Given the description of an element on the screen output the (x, y) to click on. 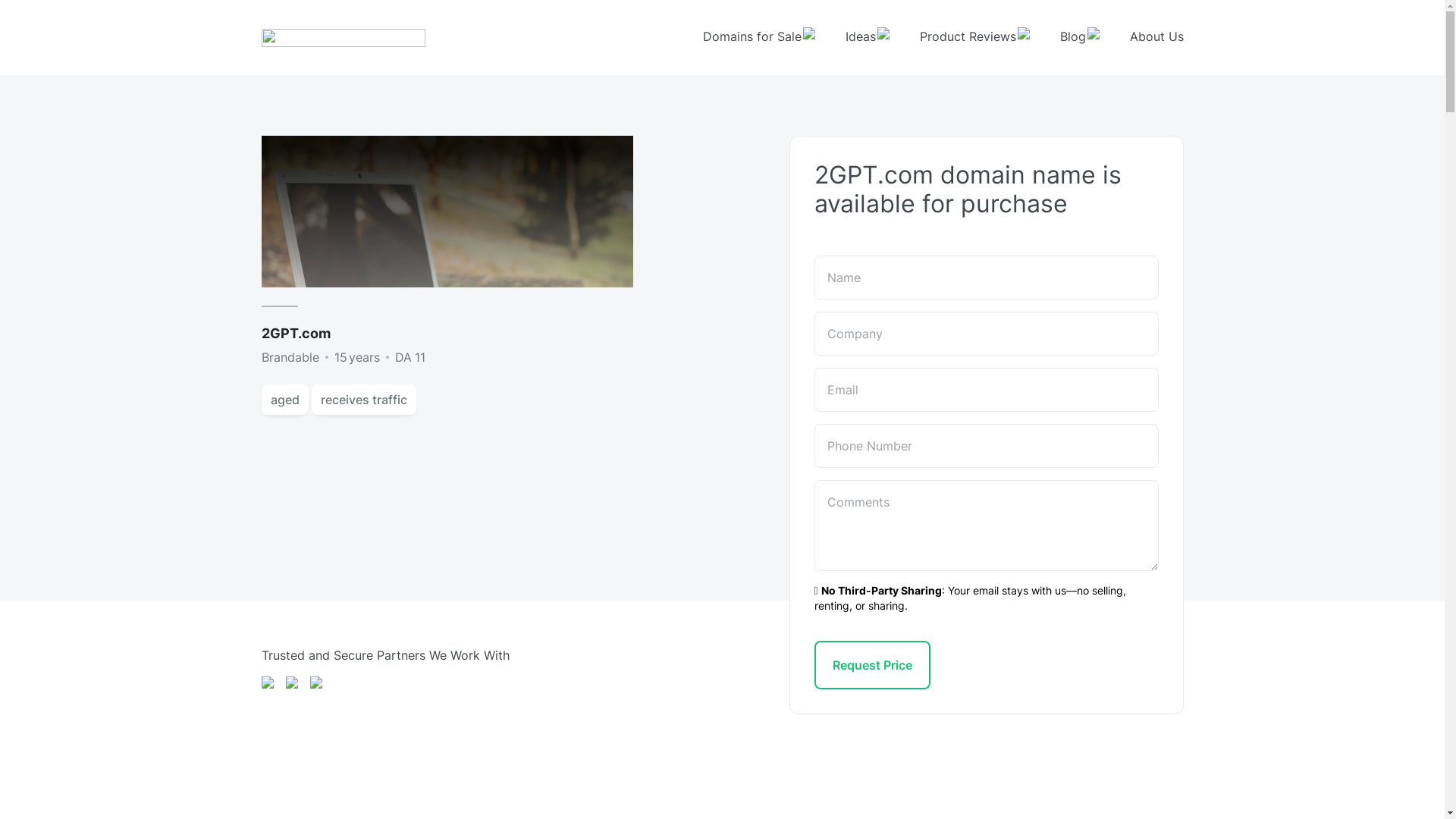
Blog Element type: text (1079, 37)
receives traffic Element type: text (363, 399)
Domains for Sale Element type: text (758, 37)
aged Element type: text (283, 399)
About Us Element type: text (1156, 37)
Request Price Element type: text (872, 664)
Ideas Element type: text (866, 37)
Product Reviews Element type: text (974, 37)
Brandable Element type: text (289, 357)
